Given the description of an element on the screen output the (x, y) to click on. 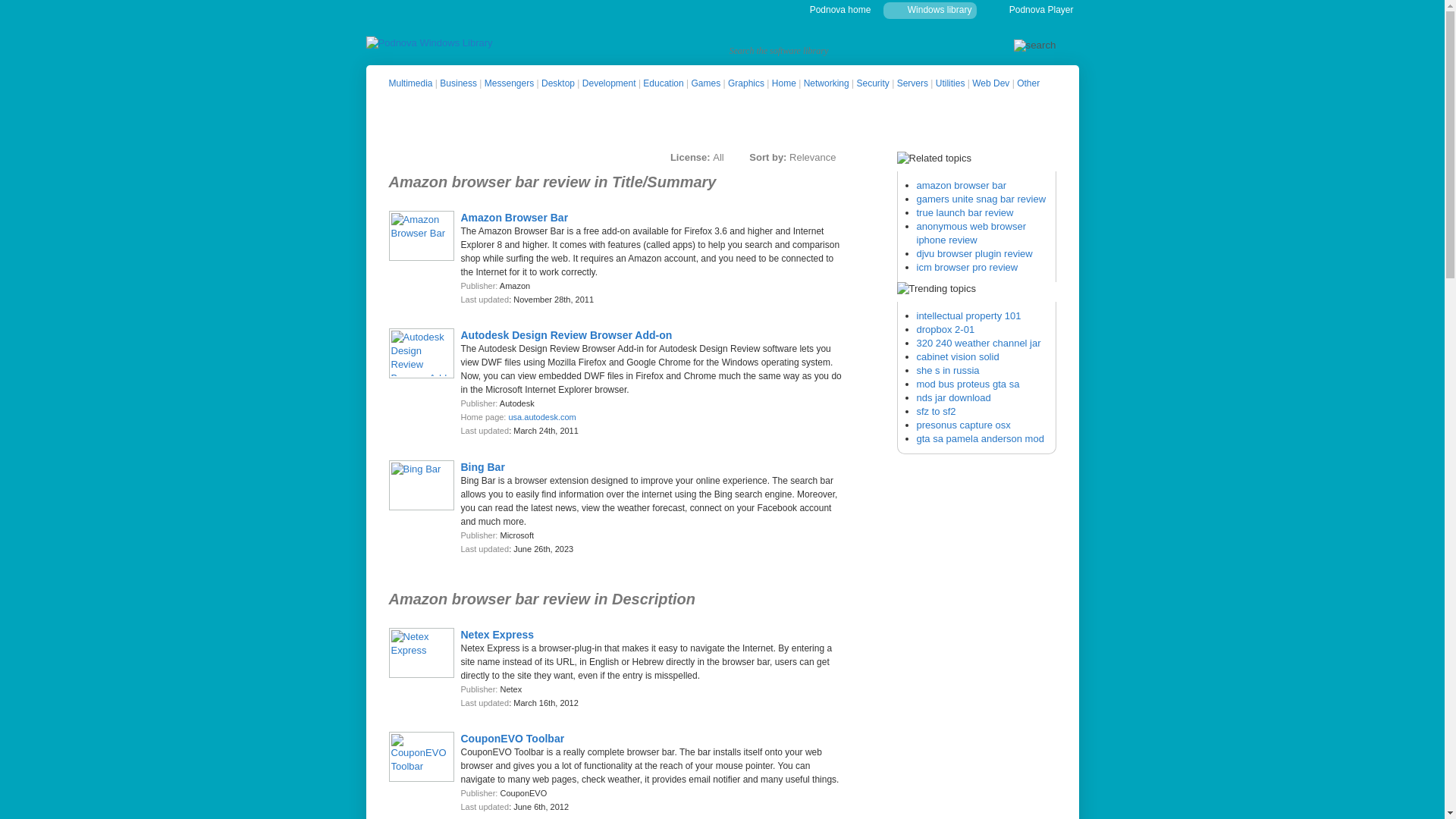
Podnova home (839, 9)
Home (783, 82)
Bing Bar (483, 467)
Development (609, 82)
Utilities (950, 82)
Servers (912, 82)
usa.autodesk.com (541, 416)
Multimedia (410, 82)
Networking (825, 82)
Podnova Player (1041, 9)
